Given the description of an element on the screen output the (x, y) to click on. 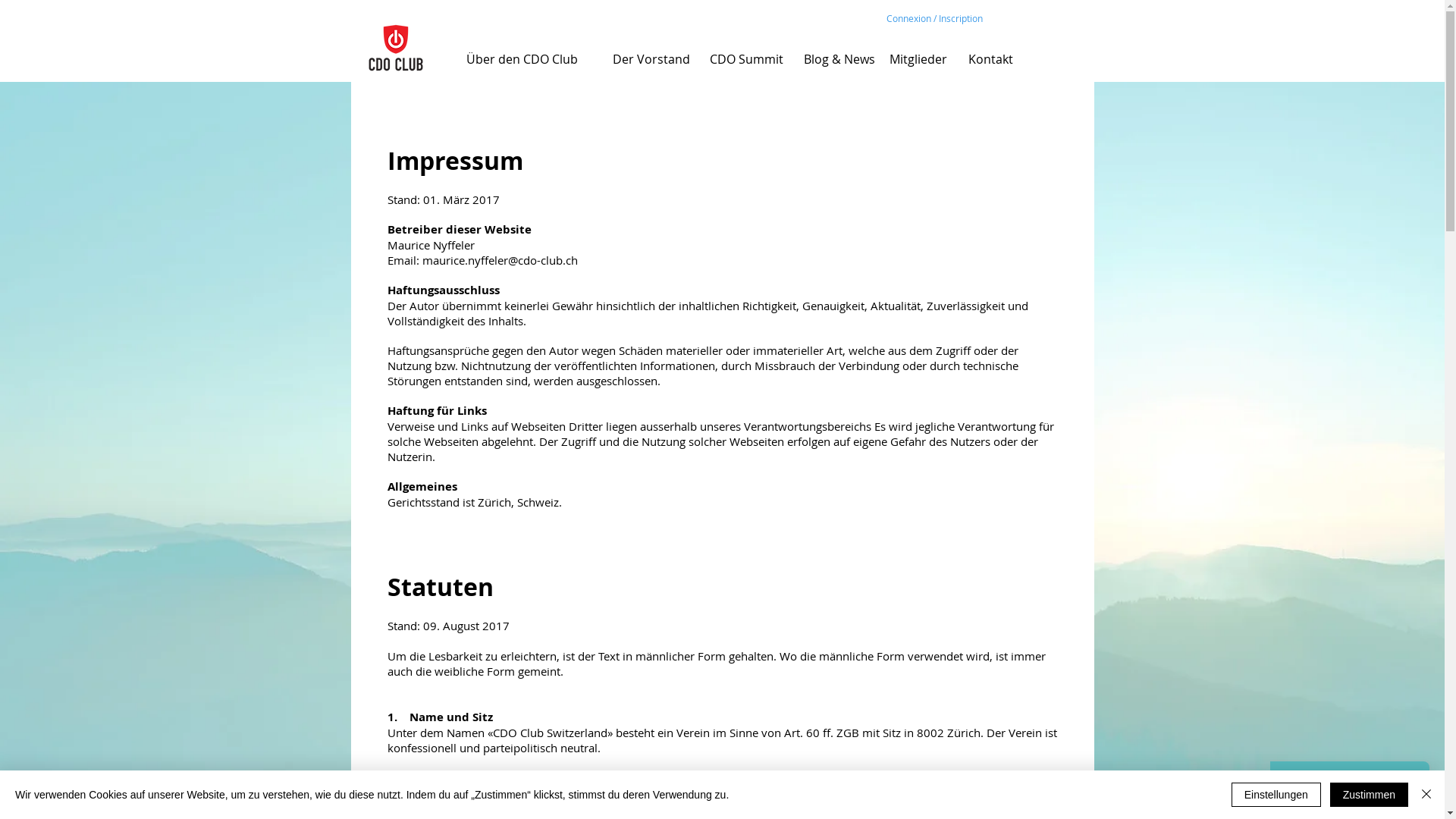
CDO Summit Element type: text (746, 58)
Kontakt Element type: text (990, 58)
Einstellungen Element type: text (1276, 794)
Mitglieder Element type: text (917, 58)
Der Vorstand Element type: text (651, 58)
maurice.nyffeler@cdo-club.ch Element type: text (499, 259)
Zustimmen Element type: text (1369, 794)
Connexion / Inscription Element type: text (934, 18)
Blog & News Element type: text (838, 58)
